Given the description of an element on the screen output the (x, y) to click on. 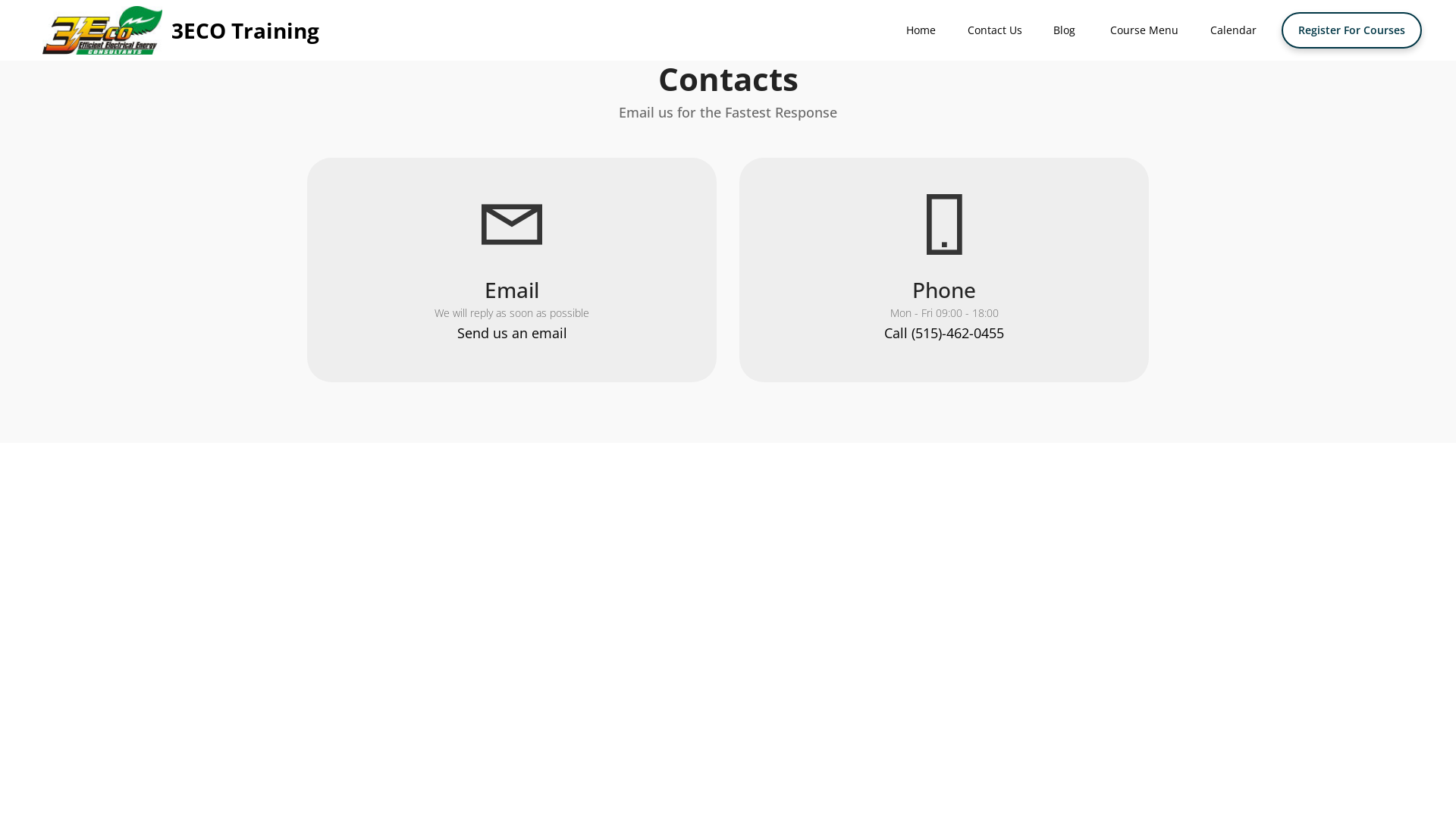
Calendar Element type: text (1233, 29)
3ECO Training Element type: text (245, 30)
Call (515)-462-0455 Element type: text (944, 332)
Course Menu Element type: text (1144, 29)
Blog  Element type: text (1065, 29)
Send us an email Element type: text (511, 332)
Register For Courses Element type: text (1351, 30)
Home Element type: text (920, 29)
Contact Us Element type: text (994, 29)
